Given the description of an element on the screen output the (x, y) to click on. 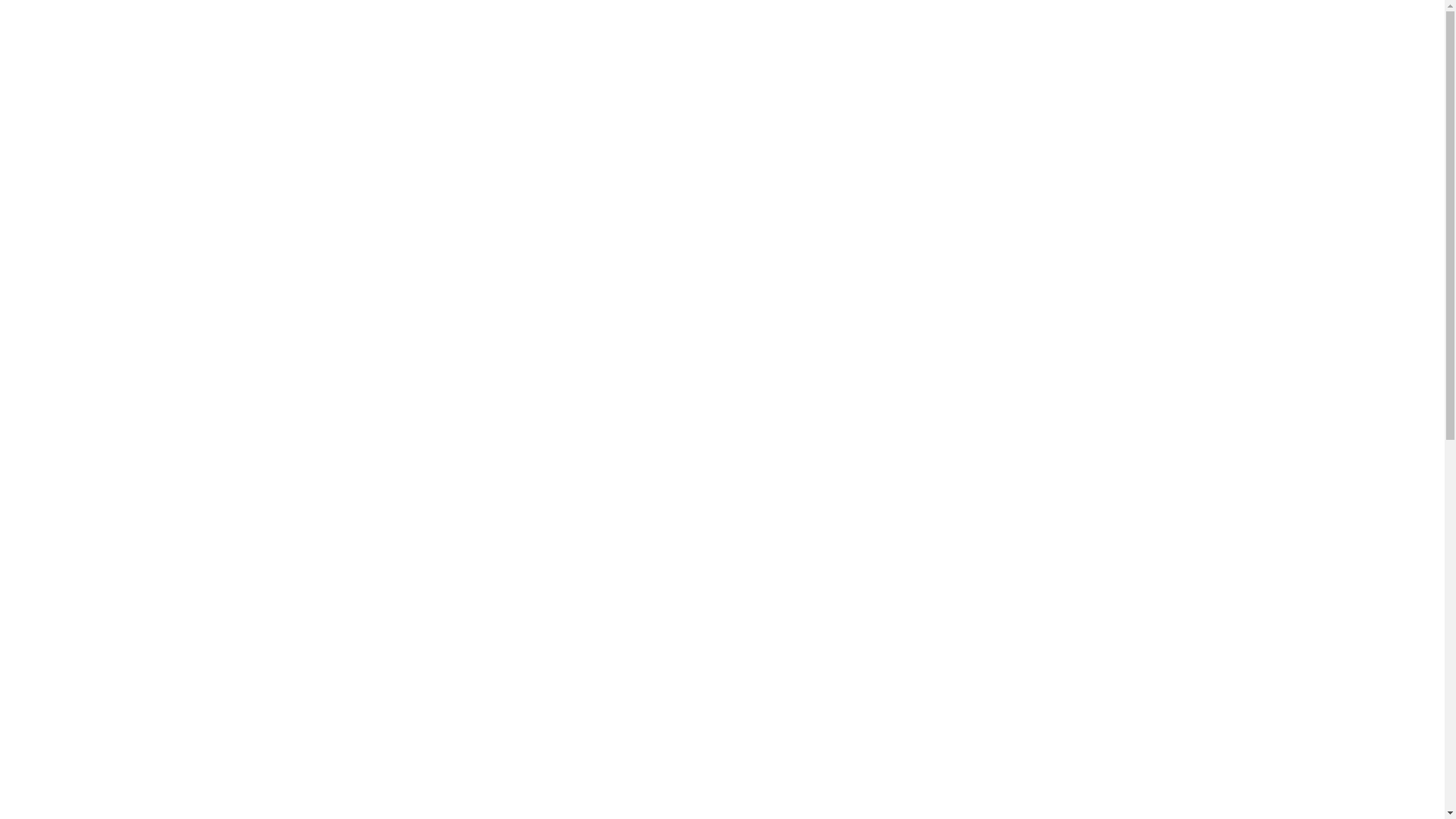
Product in de kijker Element type: text (1263, 12)
Prefab Element type: text (1034, 47)
Contact Element type: text (1408, 12)
Inschrijven. Element type: text (632, 696)
Share on facebook Element type: hover (423, 362)
De Doncker Roosdaal Element type: hover (410, 45)
Home Element type: hover (1089, 12)
Vacatures Element type: text (1349, 12)
Bouwmaterialen Element type: text (1239, 47)
Share on pinterest Element type: hover (486, 362)
Betoncentrale Element type: text (1122, 47)
Share on twitter Element type: hover (453, 362)
Predallen Element type: text (961, 47)
Share on google Element type: hover (517, 362)
Terug naar overzicht Element type: text (1068, 285)
Nieuws Element type: text (1185, 12)
Over DDR Element type: text (1130, 12)
